Given the description of an element on the screen output the (x, y) to click on. 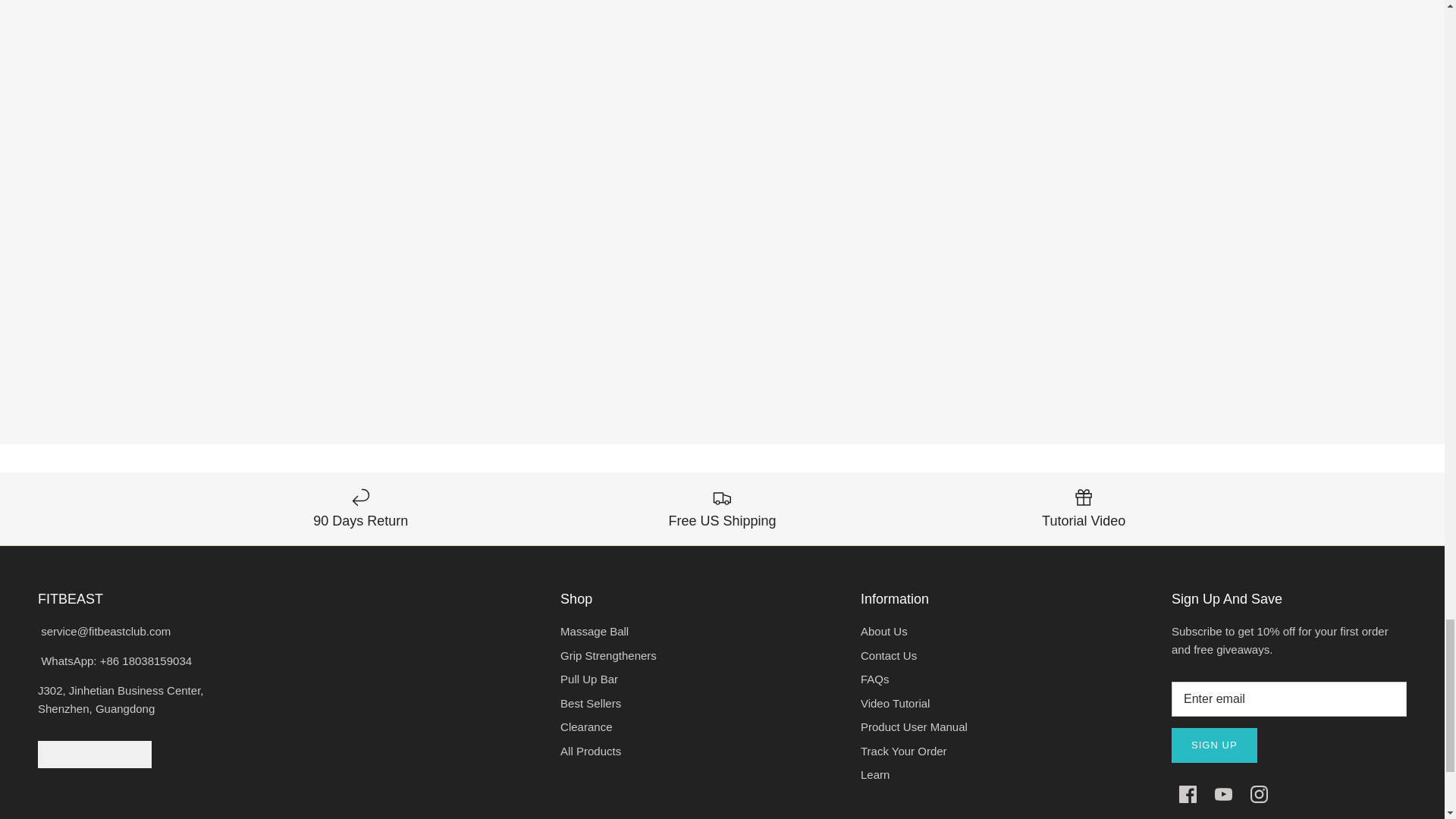
Instagram (1259, 794)
Youtube (1222, 794)
Facebook (1187, 794)
